Given the description of an element on the screen output the (x, y) to click on. 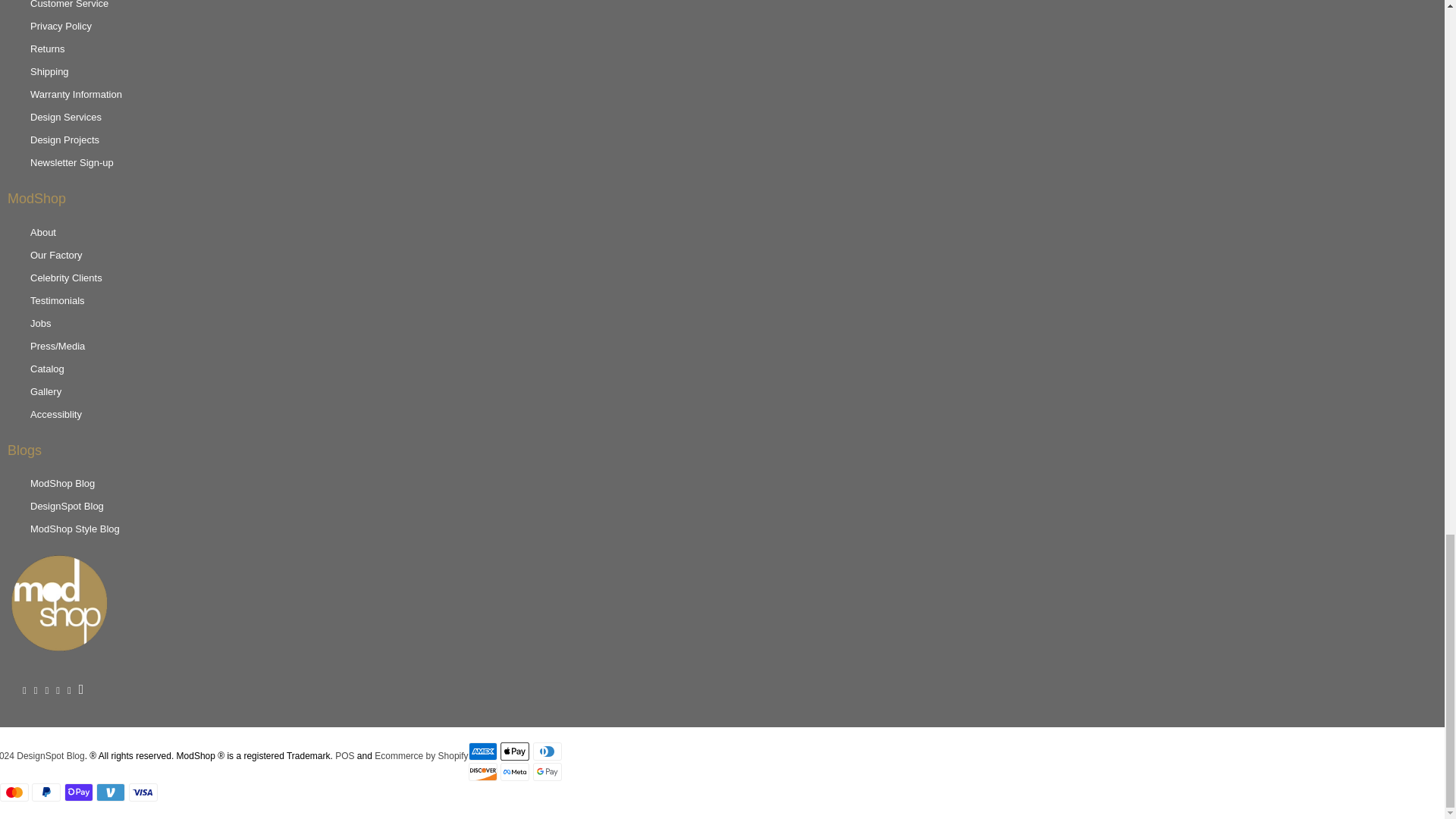
Venmo (110, 791)
Visa (143, 791)
Discover (482, 771)
Meta Pay (514, 771)
Diners Club (547, 751)
PayPal (46, 791)
Shop Pay (78, 791)
ModShop on Instagram (65, 690)
ModShop on Pinterest (53, 690)
ModShop on Facebook (31, 690)
ModShop on Email (77, 689)
Google Pay (547, 771)
ModShop on Twitter (20, 690)
ModShop on YouTube (43, 690)
American Express (482, 751)
